Given the description of an element on the screen output the (x, y) to click on. 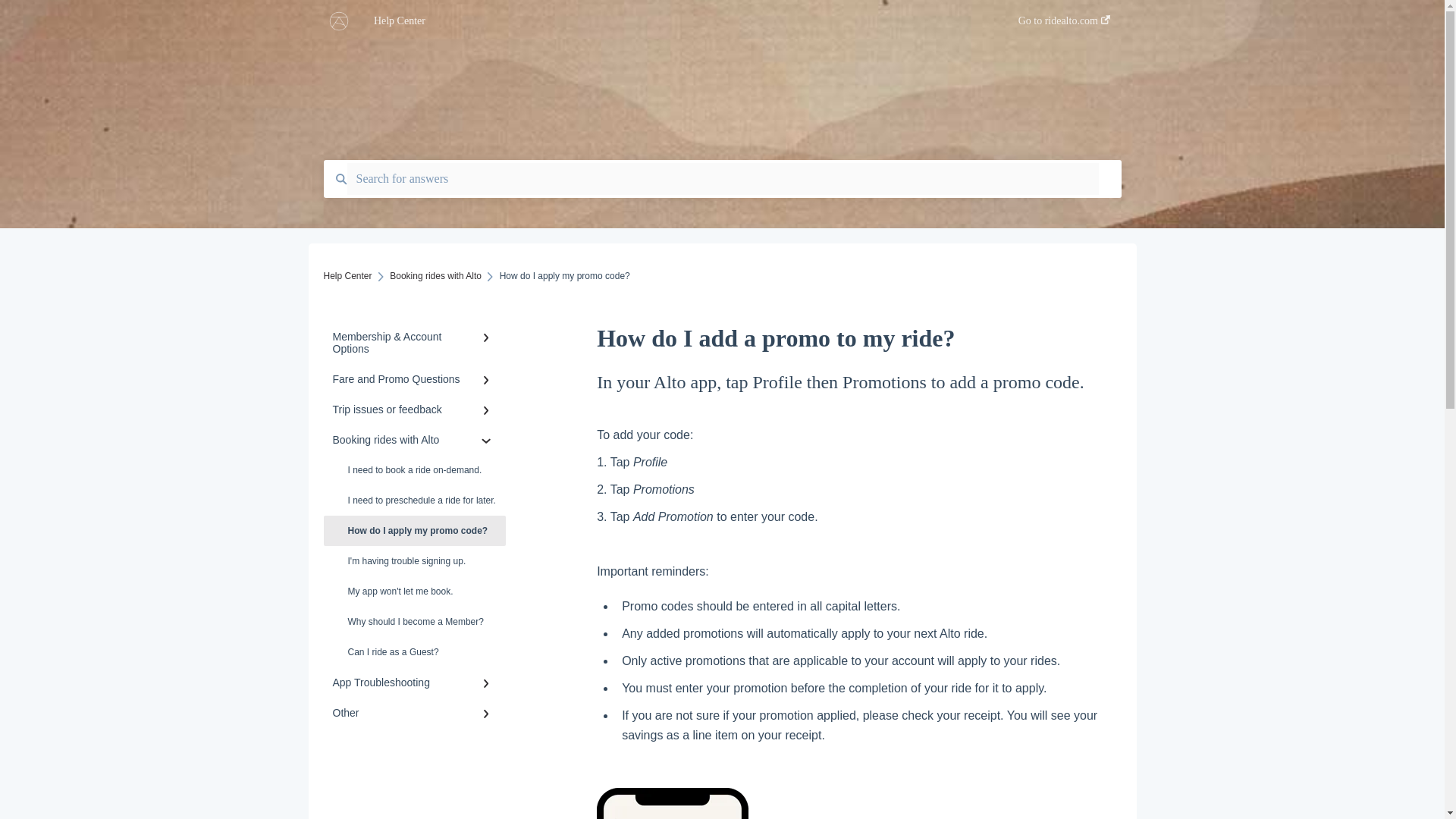
Fare and Promo Questions (414, 378)
Go to ridealto.com (1063, 25)
Help Center (347, 276)
Help Center (673, 21)
Trip issues or feedback (414, 409)
Booking rides with Alto (435, 276)
